Given the description of an element on the screen output the (x, y) to click on. 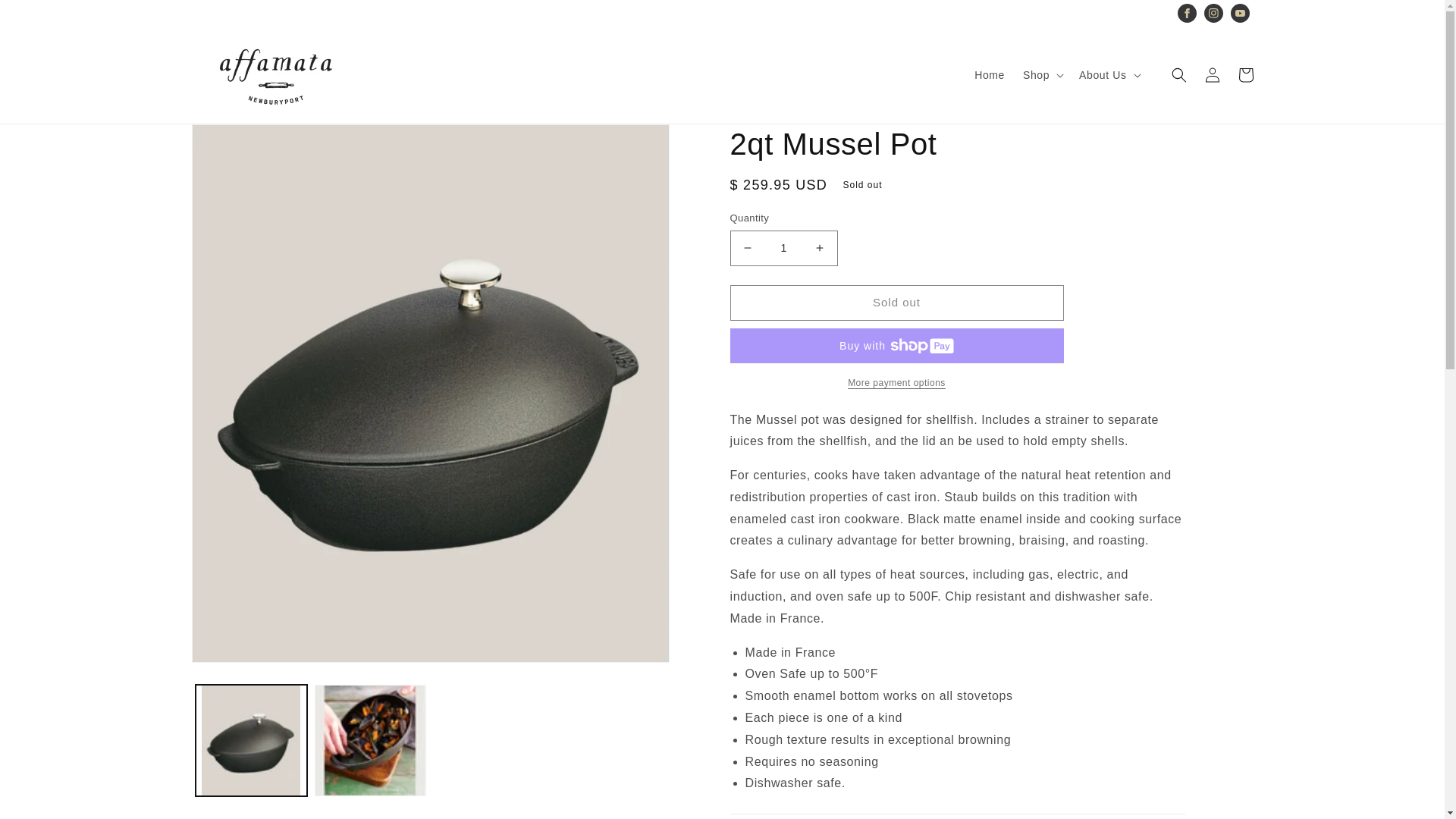
1 (783, 248)
Instagram (1213, 13)
Facebook (1185, 13)
Skip to content (45, 17)
YouTube (1239, 13)
